Given the description of an element on the screen output the (x, y) to click on. 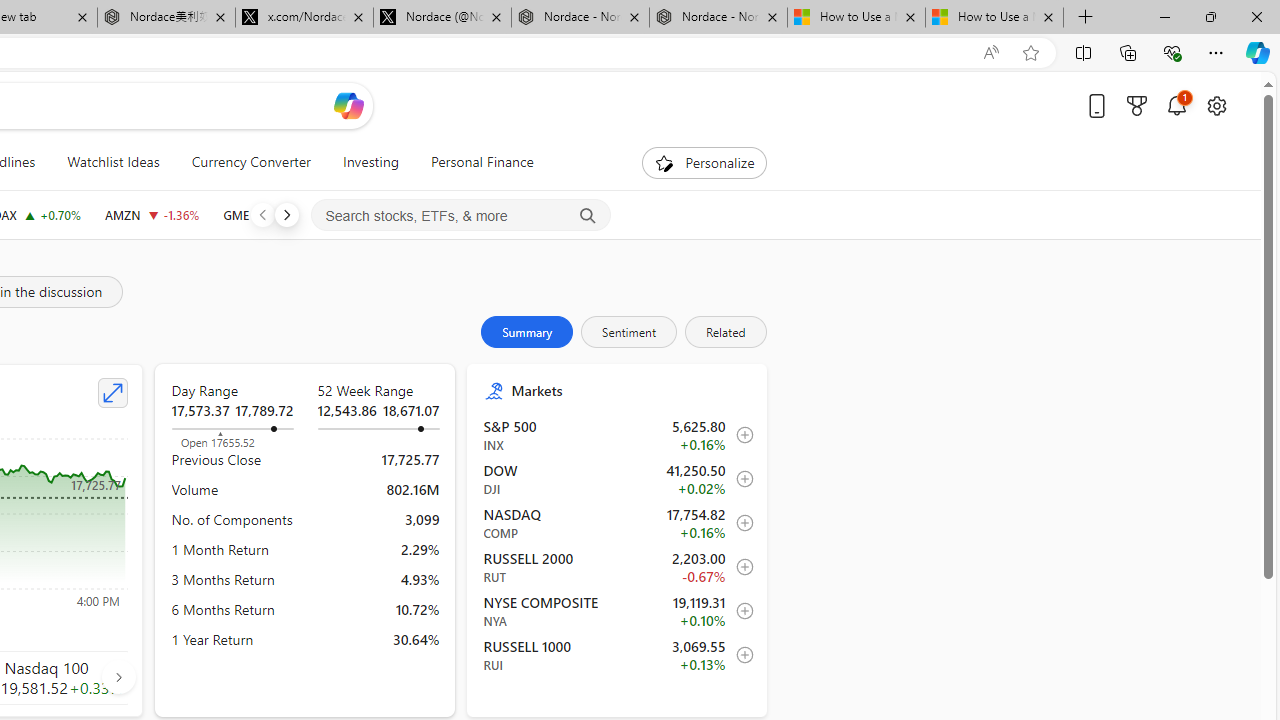
GME GAMESTOP CORP. decrease 20.74 -0.62 -2.90% (266, 214)
Open settings (1216, 105)
Personalize (703, 162)
Currency Converter (250, 162)
Currency Converter (250, 162)
